Given the description of an element on the screen output the (x, y) to click on. 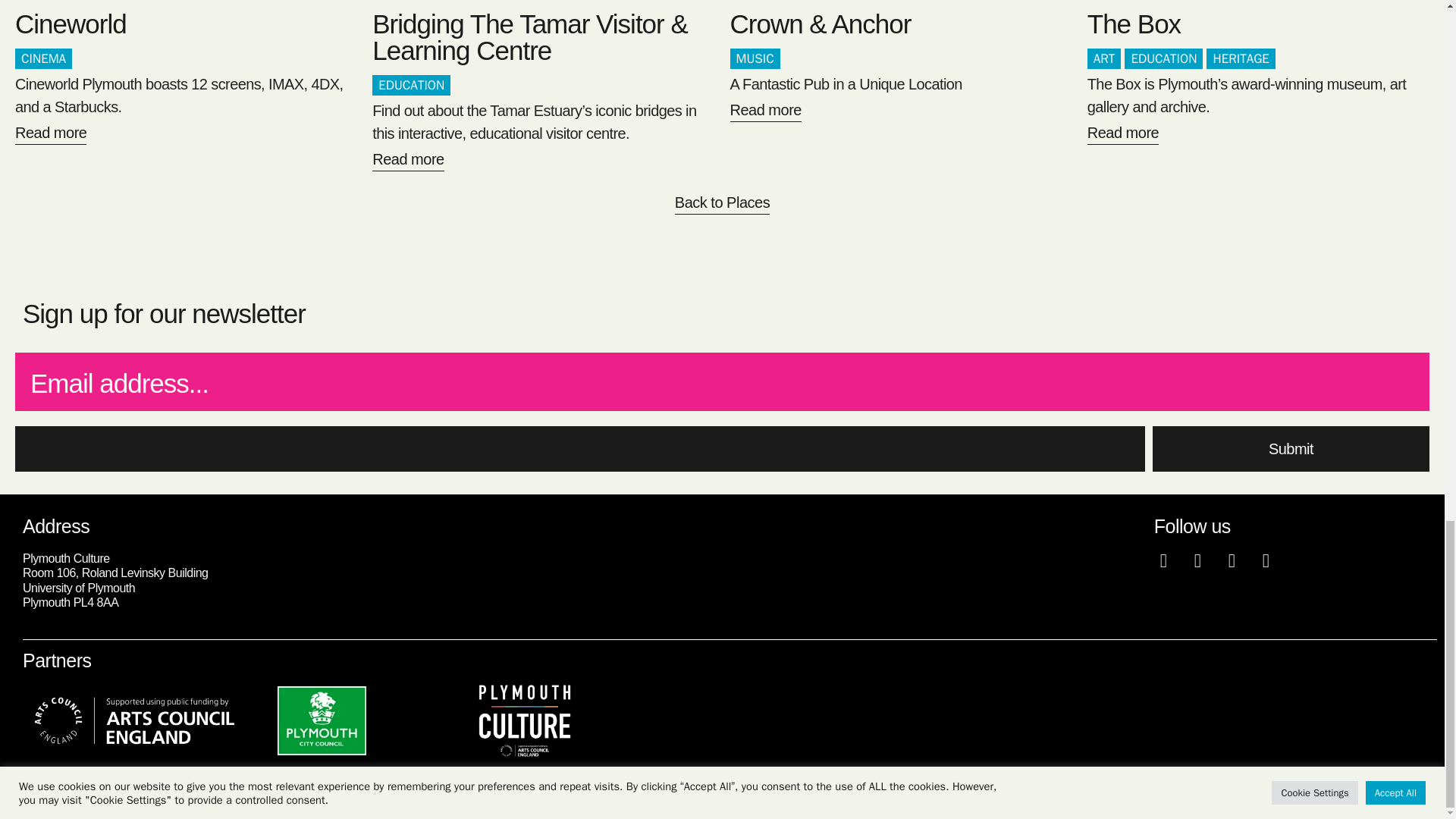
The Box (1133, 23)
Submit (1291, 448)
EDUCATION (410, 85)
Read more (408, 161)
Read more (1122, 134)
Privacy Policy (1399, 804)
MUSIC (753, 58)
EDUCATION (1163, 58)
Read more (49, 134)
CINEMA (42, 58)
